Given the description of an element on the screen output the (x, y) to click on. 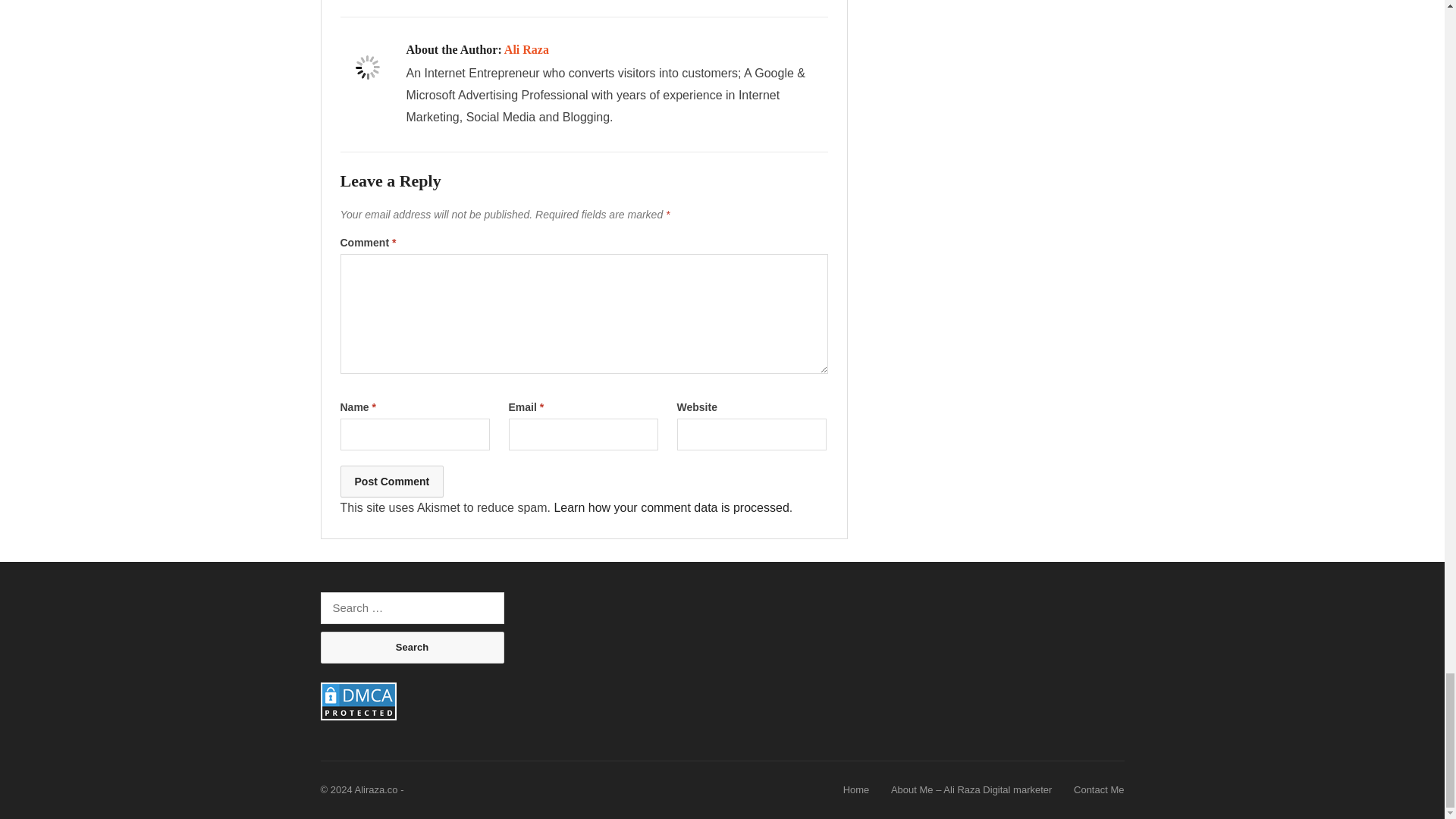
Post Comment (391, 481)
Search (411, 647)
Search (411, 647)
DMCA.com Protection Status (358, 716)
